Given the description of an element on the screen output the (x, y) to click on. 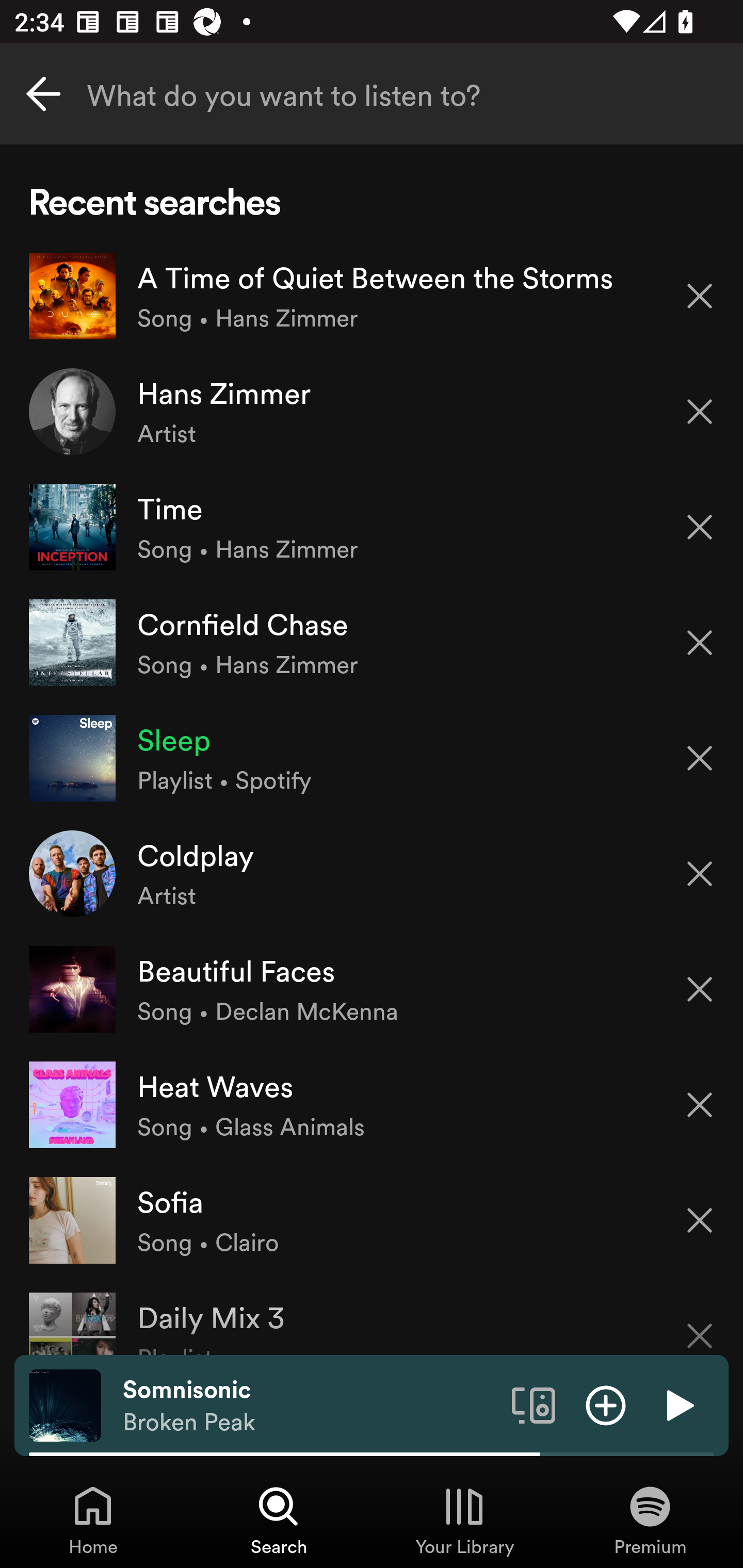
What do you want to listen to? (371, 93)
Cancel (43, 93)
Remove (699, 295)
Hans Zimmer Artist Remove (371, 411)
Remove (699, 411)
Time Song • Hans Zimmer Remove (371, 526)
Remove (699, 527)
Cornfield Chase Song • Hans Zimmer Remove (371, 642)
Remove (699, 642)
Sleep Playlist • Spotify Remove (371, 757)
Remove (699, 758)
Coldplay Artist Remove (371, 873)
Remove (699, 874)
Beautiful Faces Song • Declan McKenna Remove (371, 989)
Remove (699, 989)
Heat Waves Song • Glass Animals Remove (371, 1104)
Remove (699, 1104)
Sofia Song • Clairo Remove (371, 1219)
Remove (699, 1220)
Daily Mix 3 Playlist Remove (371, 1315)
Remove (699, 1323)
Somnisonic Broken Peak (309, 1405)
The cover art of the currently playing track (64, 1404)
Connect to a device. Opens the devices menu (533, 1404)
Add item (605, 1404)
Play (677, 1404)
Home, Tab 1 of 4 Home Home (92, 1519)
Search, Tab 2 of 4 Search Search (278, 1519)
Your Library, Tab 3 of 4 Your Library Your Library (464, 1519)
Premium, Tab 4 of 4 Premium Premium (650, 1519)
